Given the description of an element on the screen output the (x, y) to click on. 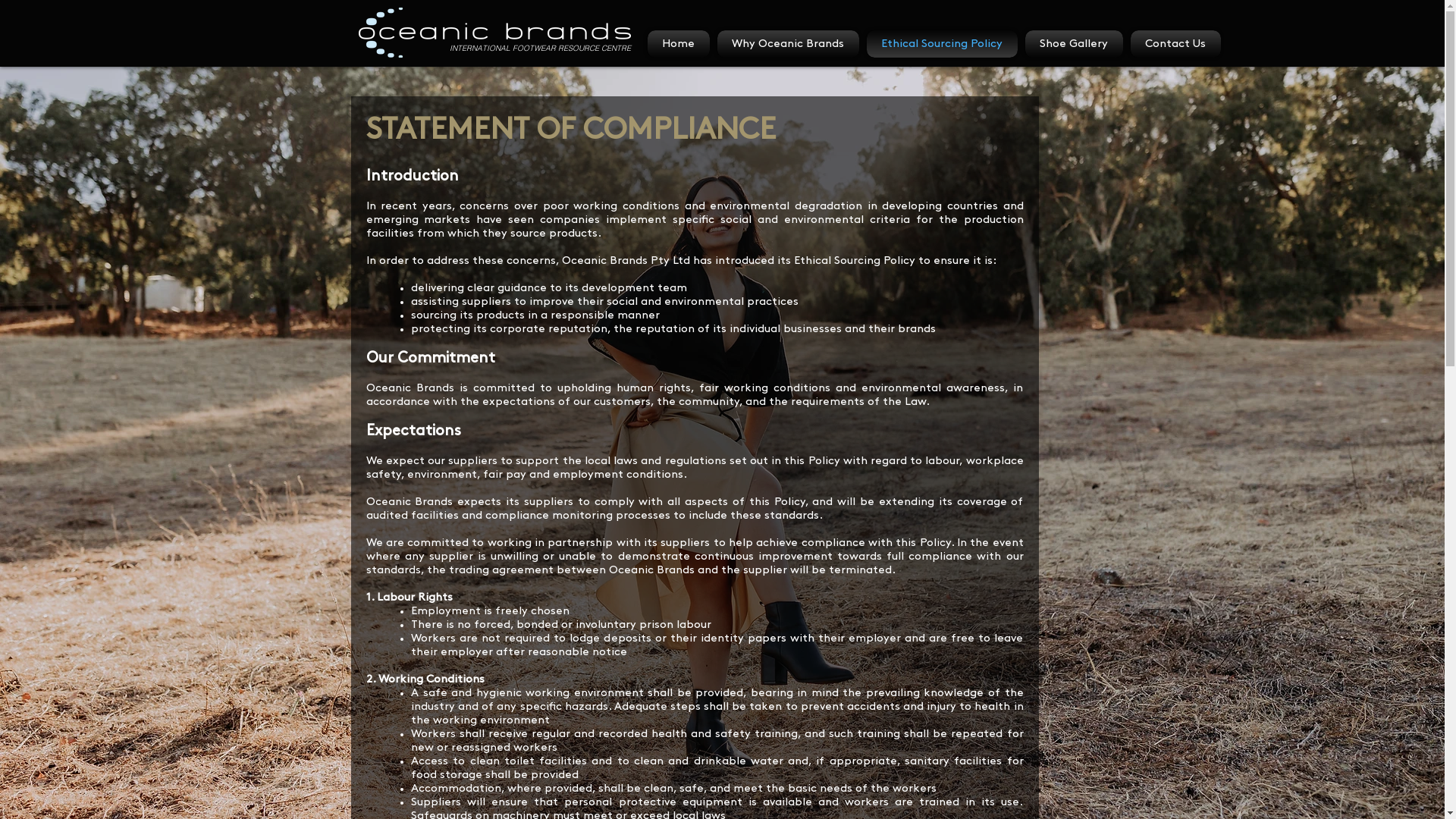
Contact Us Element type: text (1173, 43)
Ethical Sourcing Policy Element type: text (941, 43)
Why Oceanic Brands Element type: text (787, 43)
OB reverse.png Element type: hover (493, 32)
Home Element type: text (680, 43)
Shoe Gallery Element type: text (1073, 43)
